Given the description of an element on the screen output the (x, y) to click on. 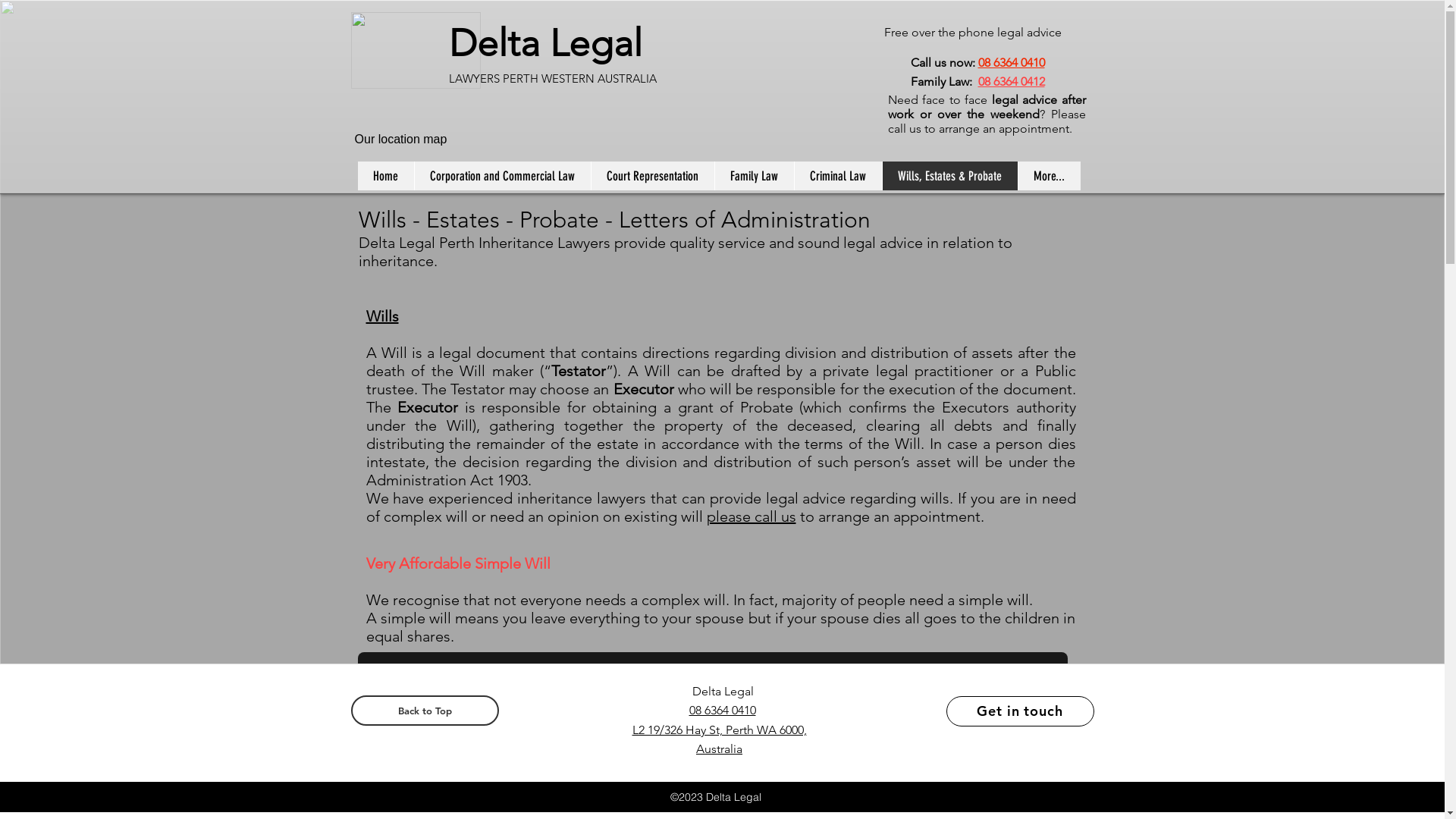
Our location map Element type: text (400, 139)
please call us Element type: text (751, 516)
Back to Top Element type: text (424, 710)
Wills, Estates & Probate Element type: text (948, 175)
Criminal Law Element type: text (837, 175)
Corporation and Commercial Law Element type: text (502, 175)
Get in touch Element type: text (1020, 711)
08 6364 0410 Element type: text (721, 709)
L2 19/326 Hay St, Perth WA 6000, Australia Element type: text (719, 739)
Court Representation Element type: text (651, 175)
Family Law Element type: text (753, 175)
Simple Will - From $135 Element type: text (424, 743)
08 6364 0410 Element type: text (1011, 62)
Home Element type: text (385, 175)
Embedded Content Element type: hover (424, 115)
